Given the description of an element on the screen output the (x, y) to click on. 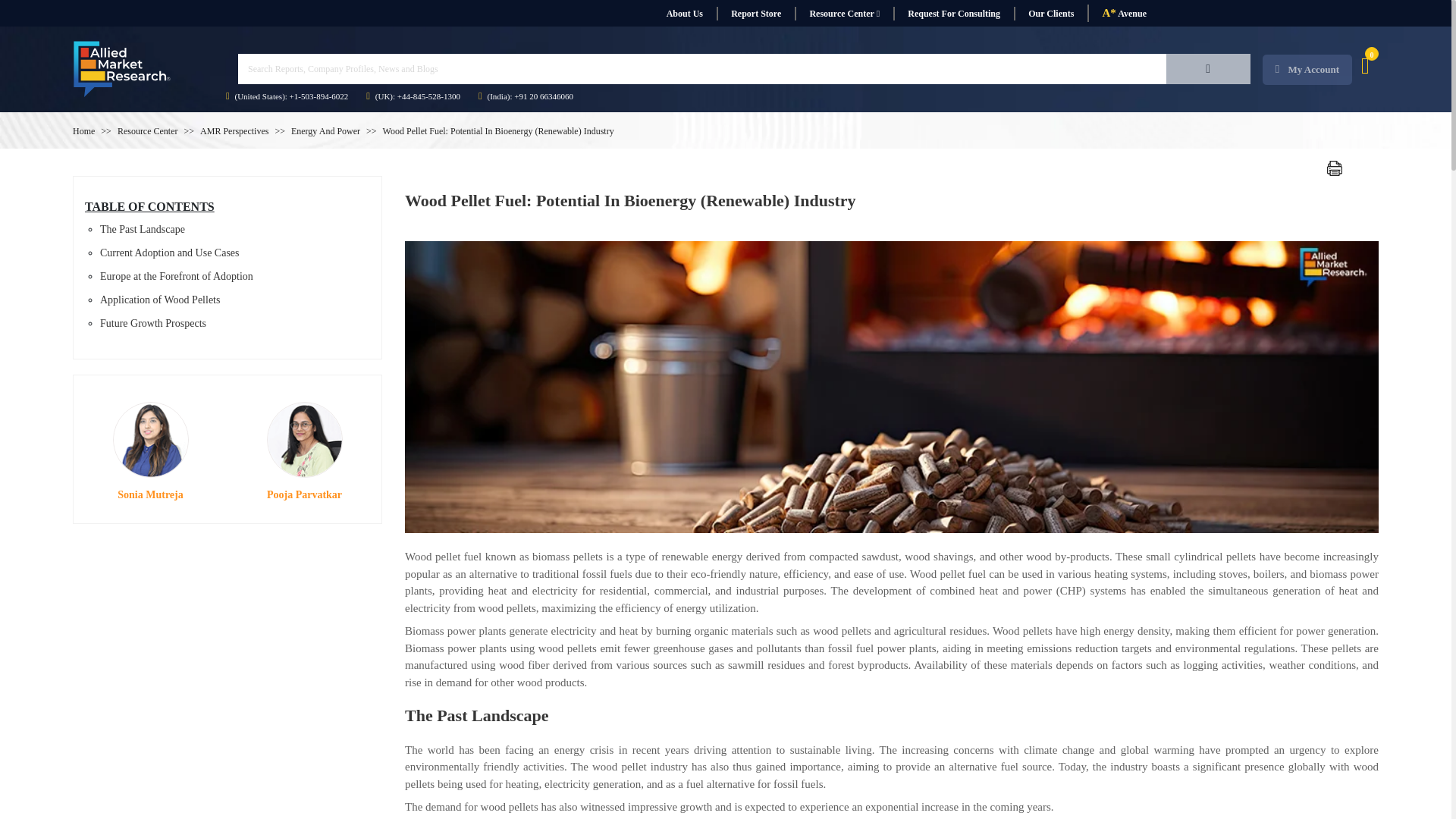
Our Clients (1050, 13)
Home (83, 131)
My Account (1307, 69)
Allied Market Research (121, 68)
Future Growth Prospects (153, 323)
Current Adoption and Use Cases (170, 252)
Sonia Mutreja (149, 439)
Pooja Parvatkar (304, 439)
Request For Consulting (953, 13)
Print PDF (1334, 168)
